Given the description of an element on the screen output the (x, y) to click on. 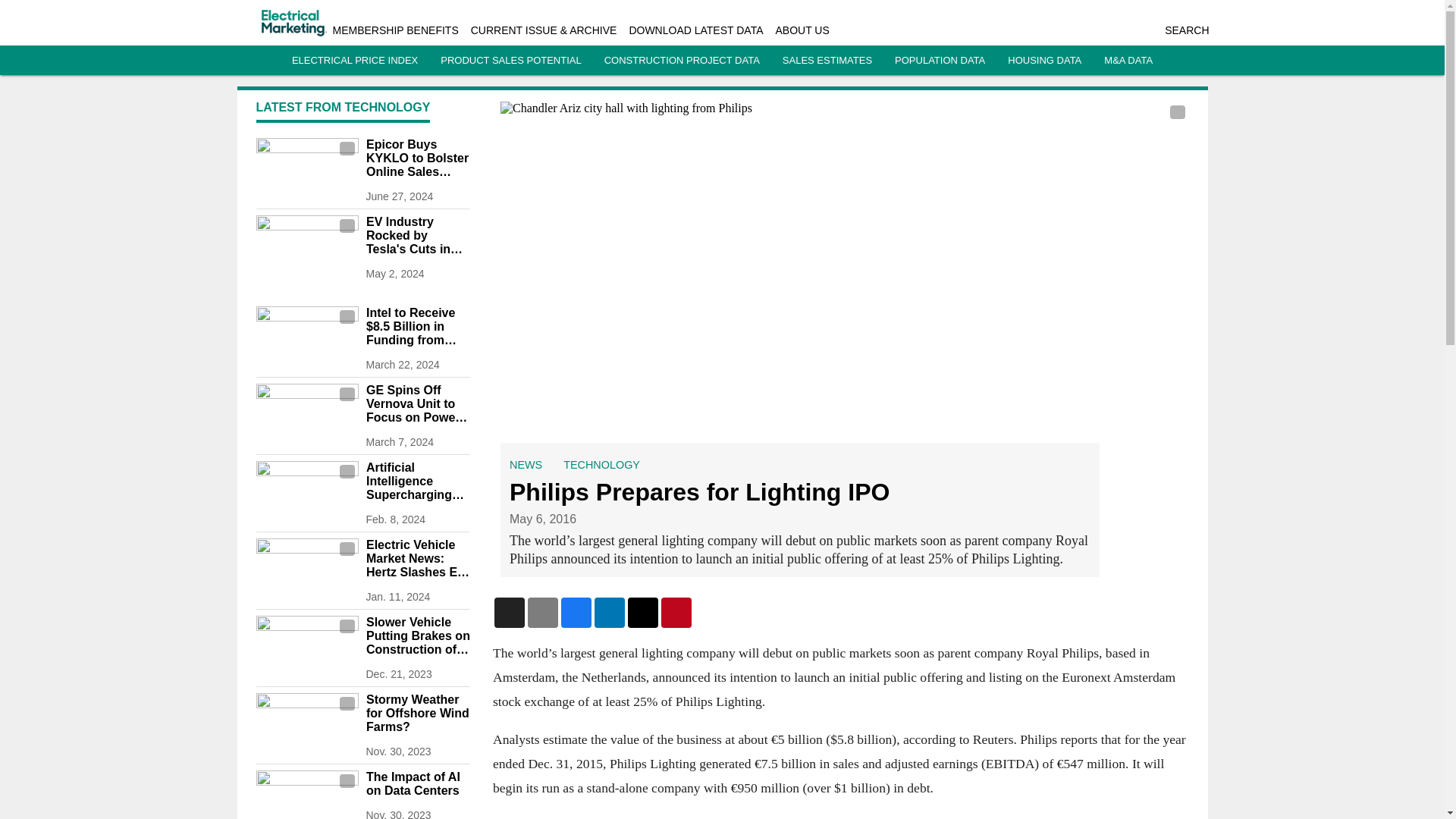
Artificial Intelligence Supercharging Data Center Demand (417, 481)
The Impact of AI on Data Centers (417, 783)
SEARCH (1186, 30)
HOUSING DATA (1044, 60)
SALES ESTIMATES (827, 60)
NEWS (525, 464)
Stormy Weather for Offshore Wind Farms? (417, 712)
DOWNLOAD LATEST DATA (695, 30)
MEMBERSHIP BENEFITS (394, 30)
PRODUCT SALES POTENTIAL (510, 60)
TECHNOLOGY (601, 464)
POPULATION DATA (940, 60)
